Given the description of an element on the screen output the (x, y) to click on. 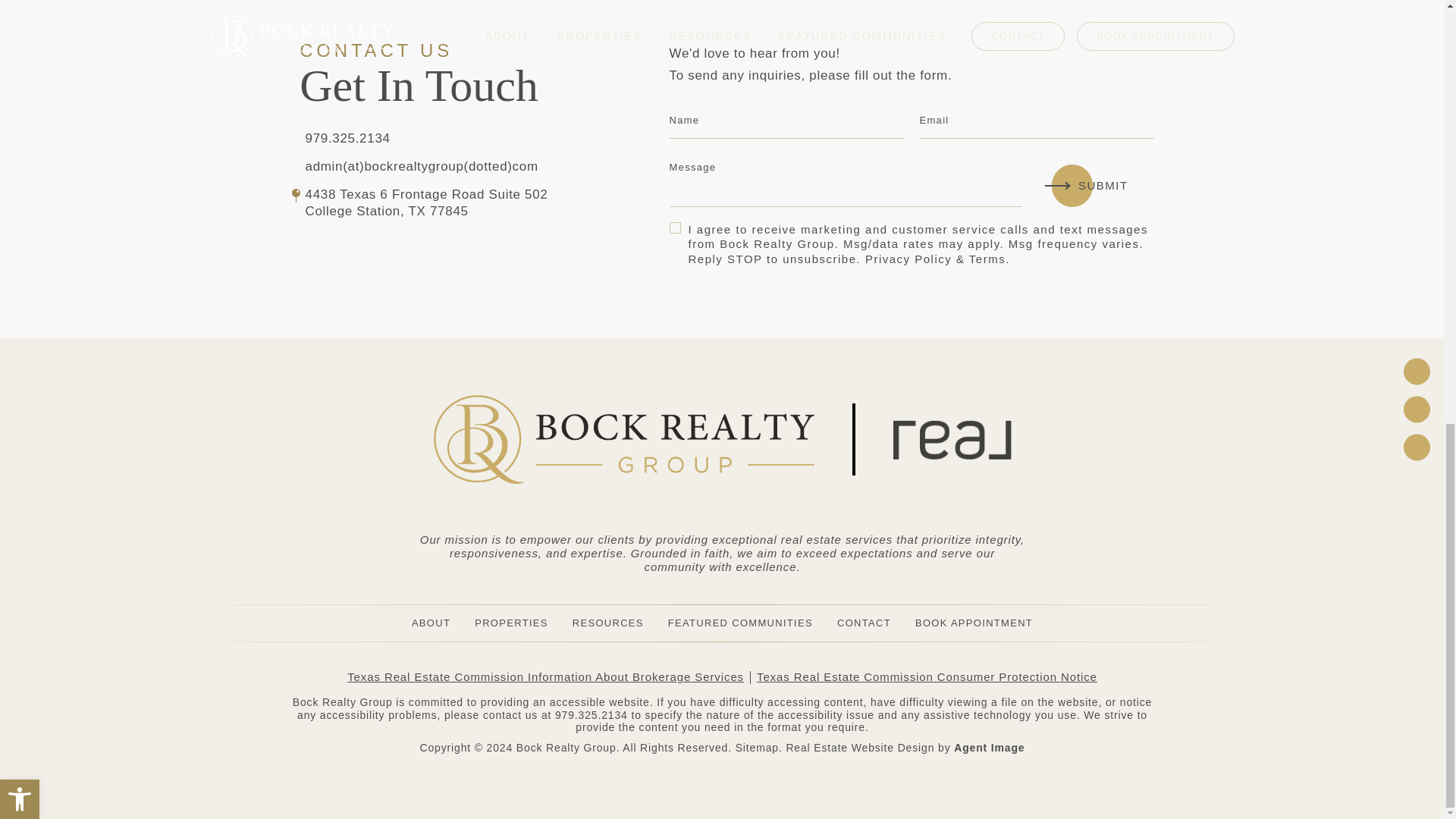
Yes (675, 226)
